Given the description of an element on the screen output the (x, y) to click on. 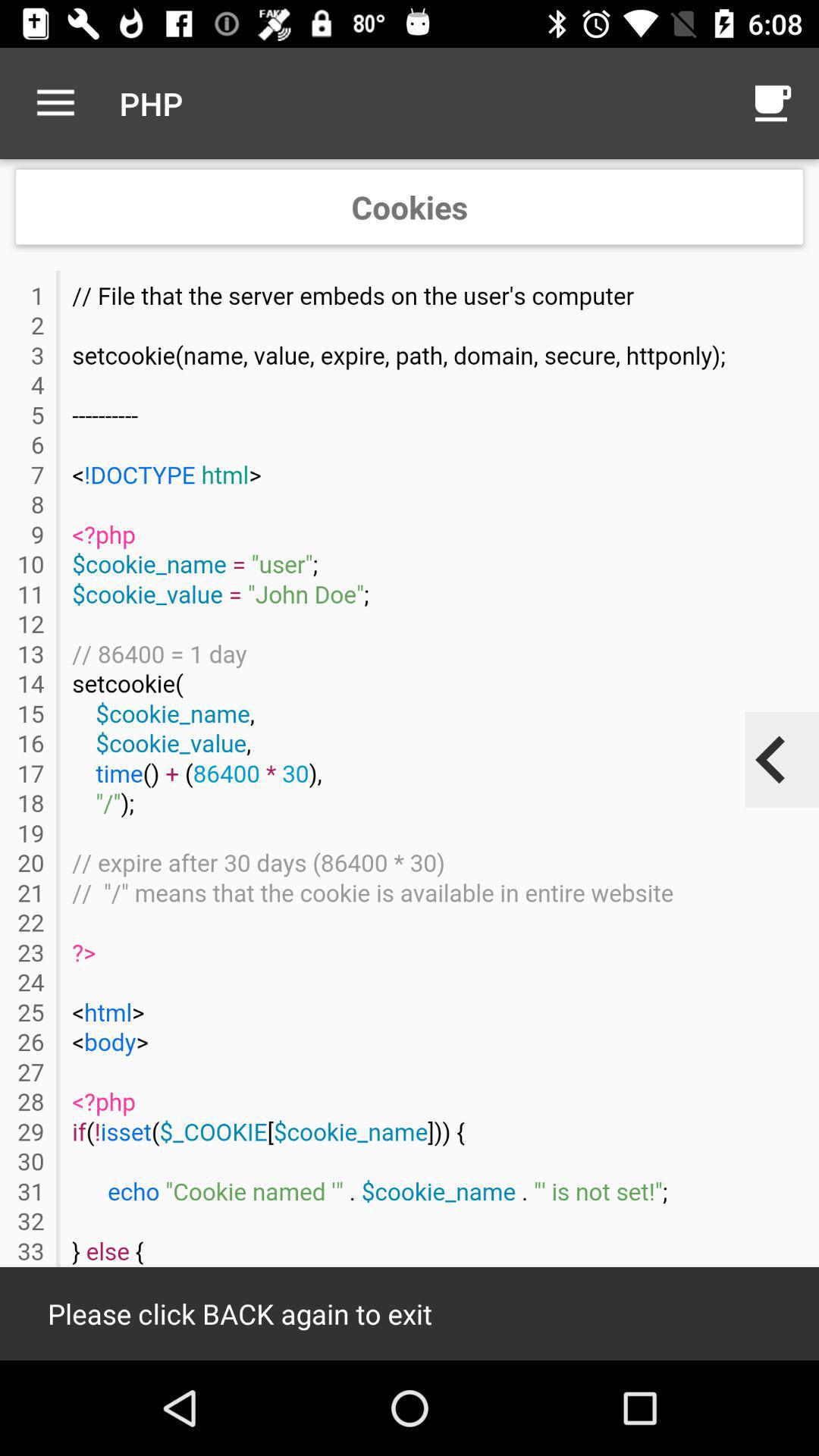
go to previous page (771, 759)
